Given the description of an element on the screen output the (x, y) to click on. 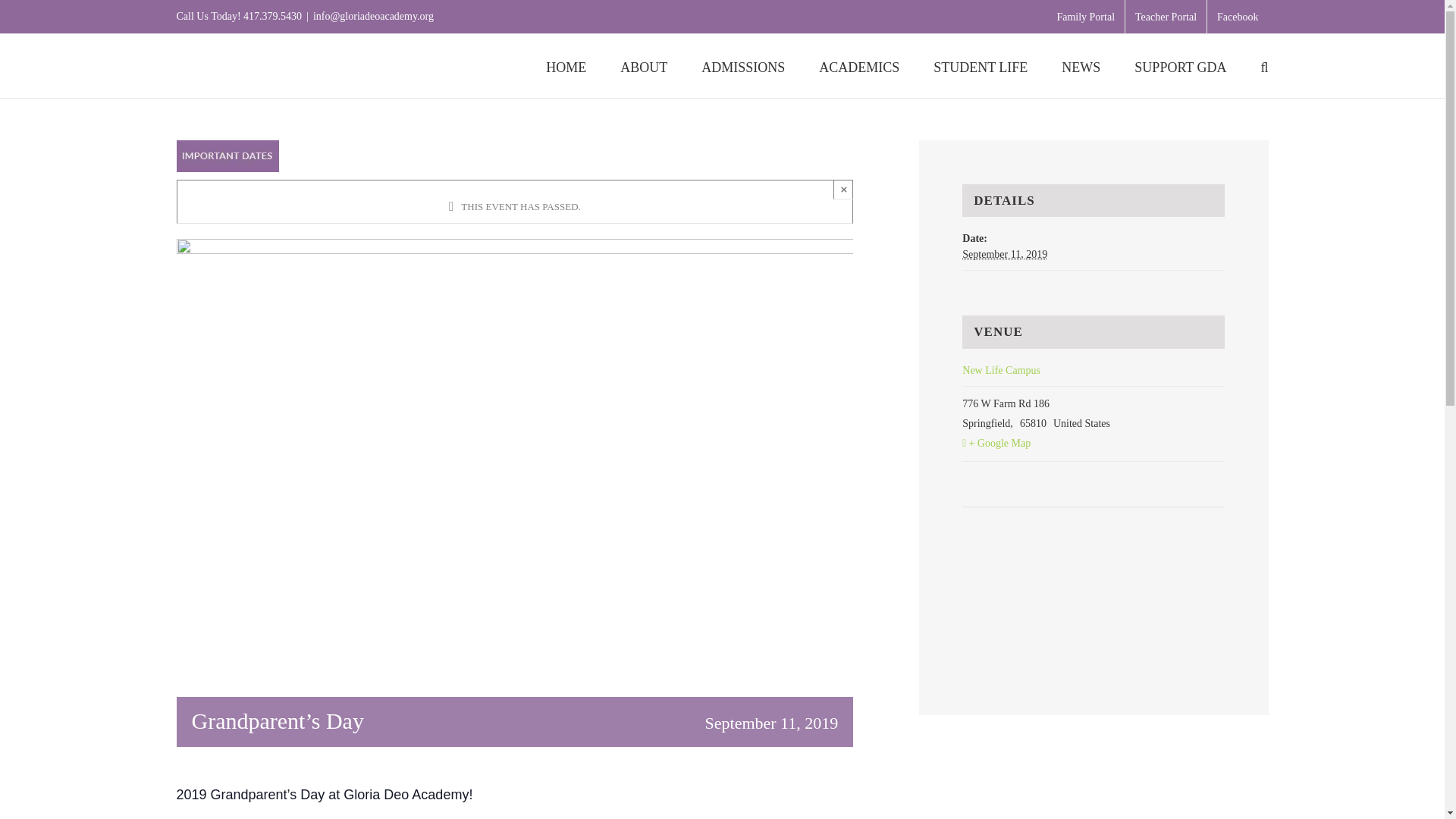
Family Portal (1085, 16)
ADMISSIONS (742, 65)
Teacher Portal (1166, 16)
SUPPORT GDA (1179, 65)
Click to view a Google Map (1093, 443)
2019-09-11 (1004, 254)
Google maps iframe displaying the address to New Life Campus (1093, 553)
STUDENT LIFE (980, 65)
ACADEMICS (858, 65)
Facebook (1237, 16)
